Given the description of an element on the screen output the (x, y) to click on. 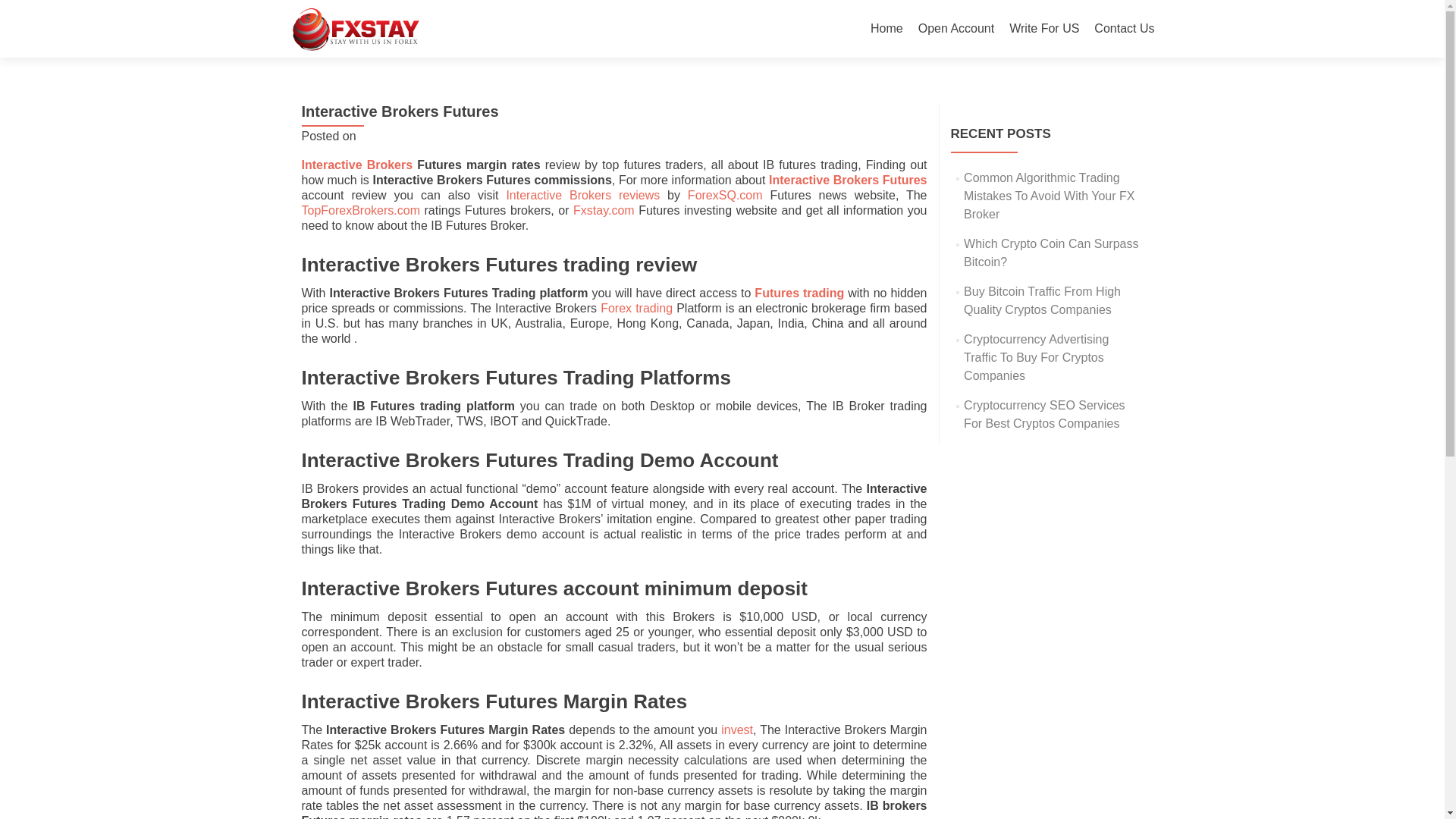
Contact Us (1124, 28)
Interactive Brokers reviews (582, 195)
Home (886, 28)
Futures trading (800, 292)
Forex trading (635, 308)
Interactive Brokers (357, 164)
Interactive Brokers Futures (847, 179)
Write For US (1043, 28)
ForexSQ.com (724, 195)
Buy Bitcoin Traffic From High Quality Cryptos Companies (1042, 300)
